Given the description of an element on the screen output the (x, y) to click on. 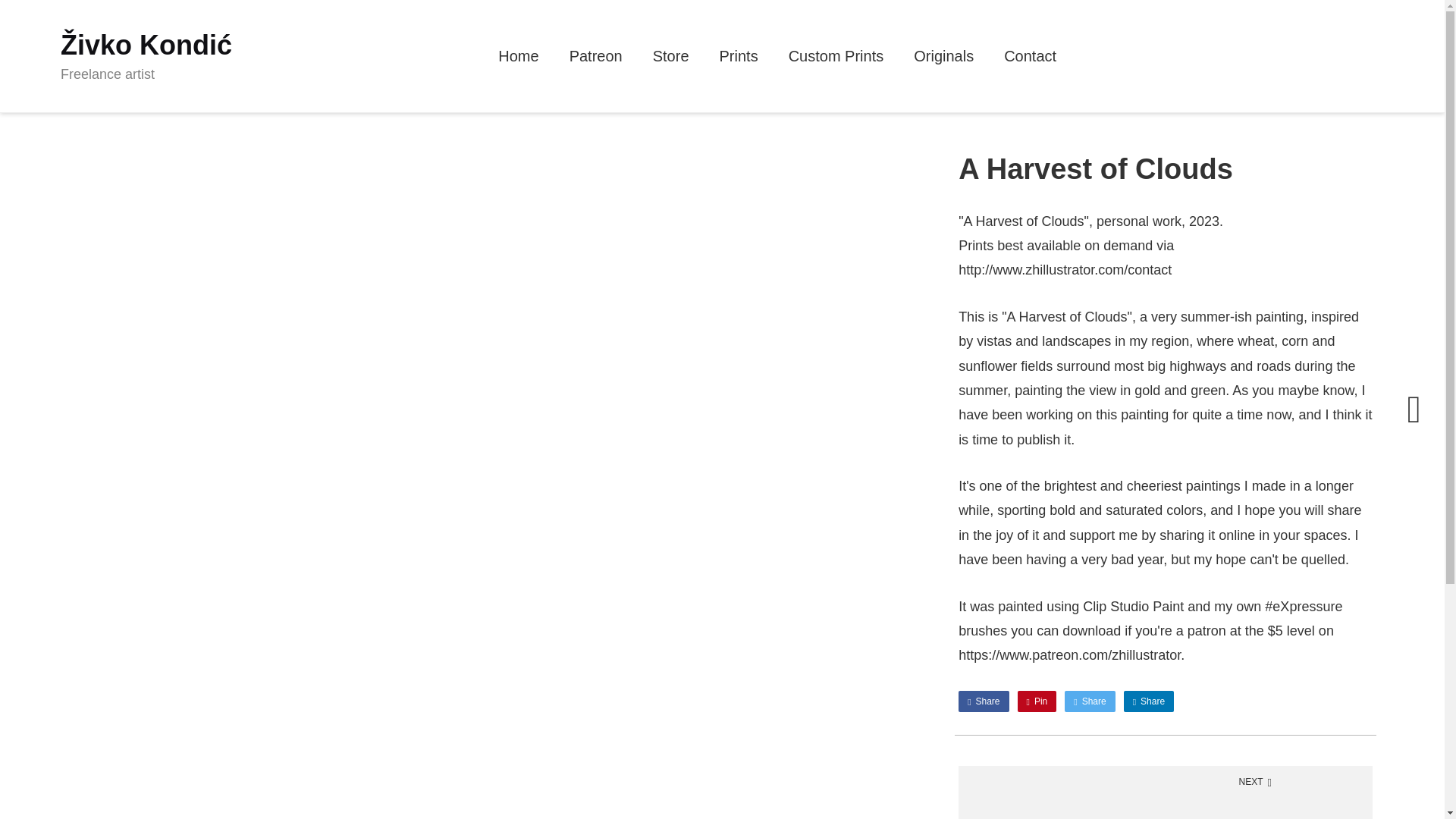
Originals (944, 61)
Share (1089, 701)
Store (670, 61)
Share (1148, 701)
Patreon (596, 61)
Custom Prints (836, 61)
Contact (1030, 61)
Home (517, 61)
Share (983, 701)
Prints (738, 61)
Pin (1037, 701)
